Given the description of an element on the screen output the (x, y) to click on. 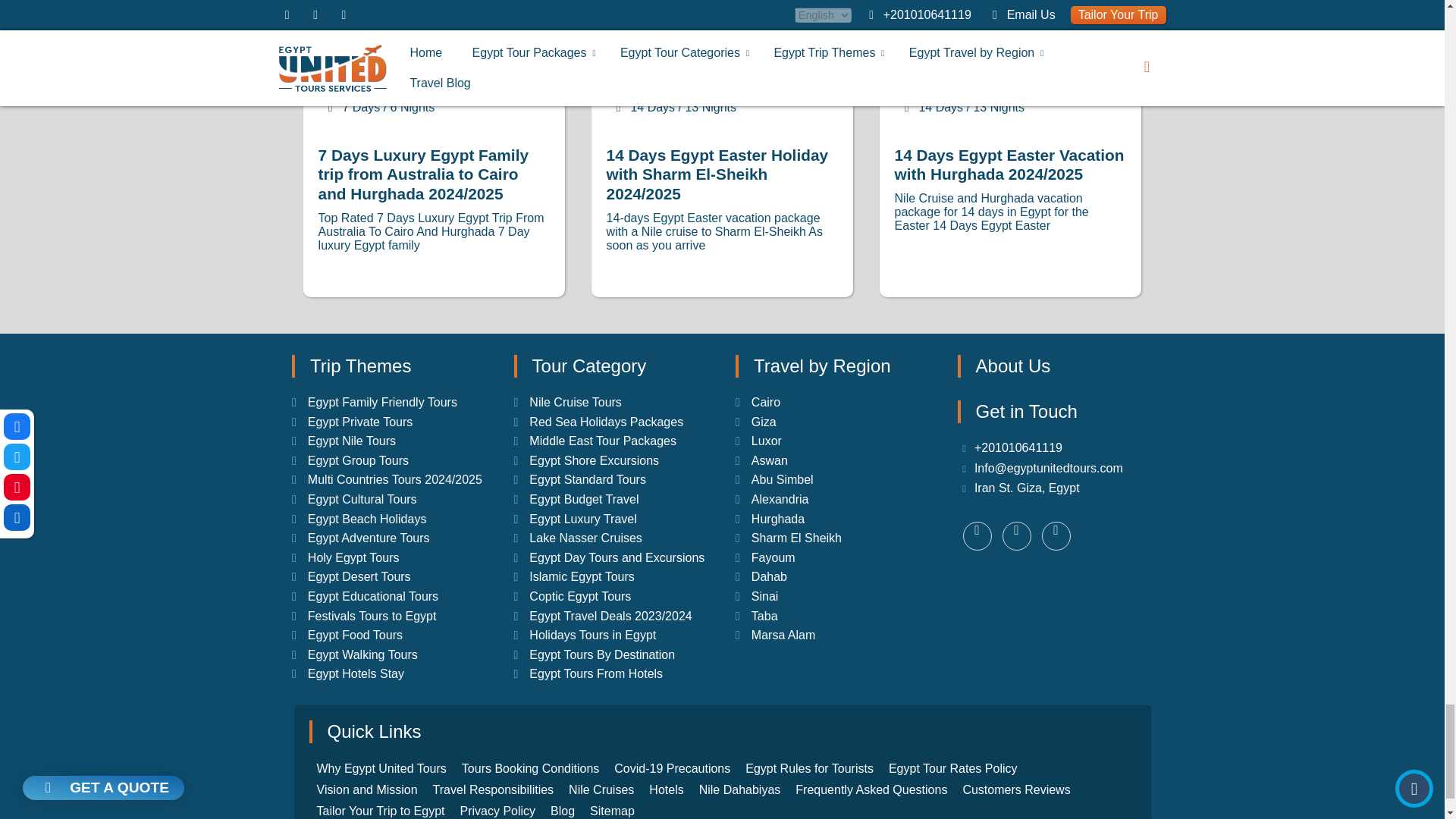
youtube (976, 535)
twitter (1016, 535)
facebook (1056, 535)
